Given the description of an element on the screen output the (x, y) to click on. 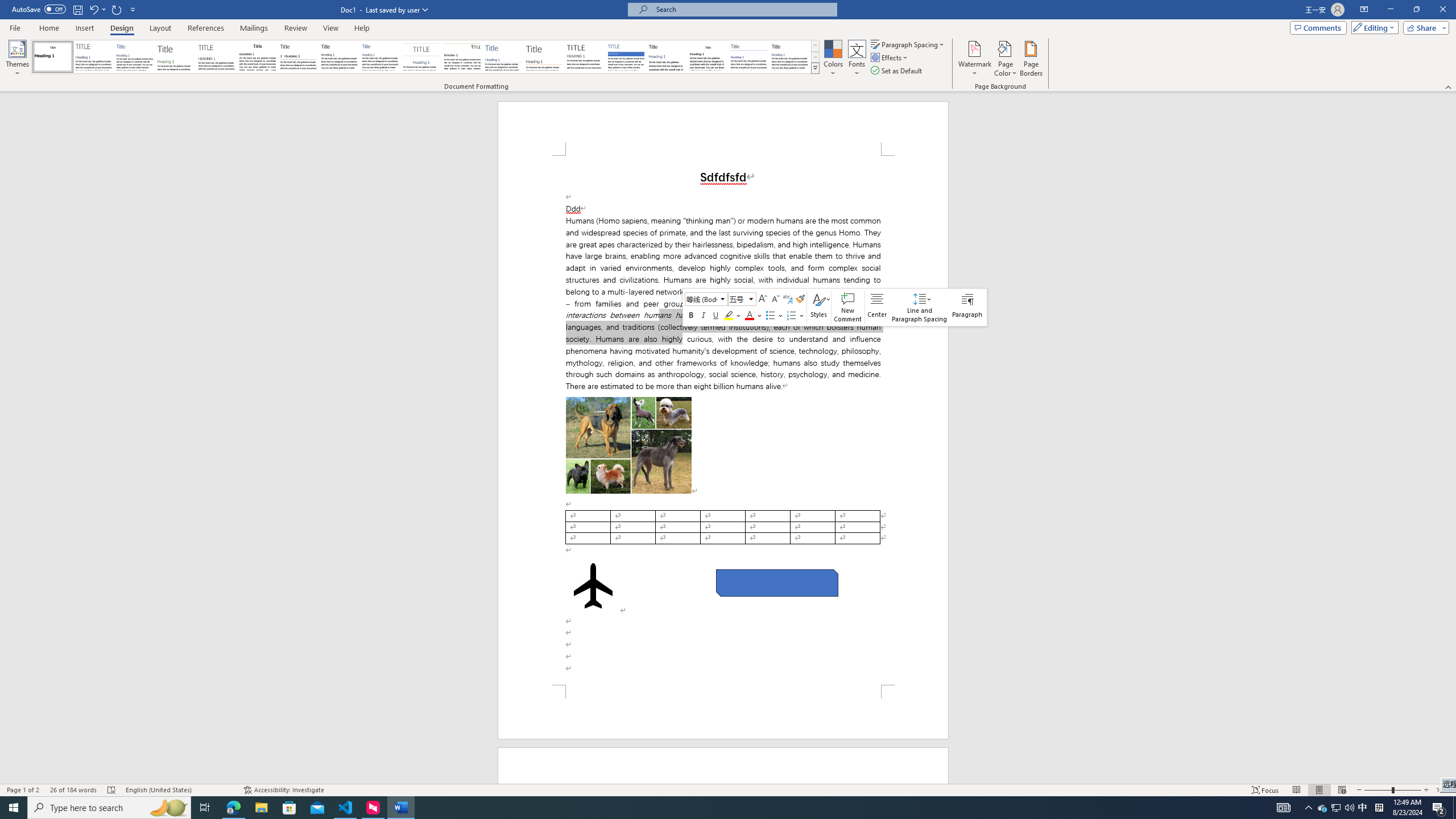
Language English (United States) (178, 790)
Black & White (Numbered) (298, 56)
Text Highlight Color Yellow (728, 315)
Black & White (Word 2013) (338, 56)
Fonts (856, 58)
Page Borders... (1031, 58)
Paragraph... (967, 307)
Spelling and Grammar Check Errors (111, 790)
Colors (832, 58)
Word 2010 (749, 56)
